Given the description of an element on the screen output the (x, y) to click on. 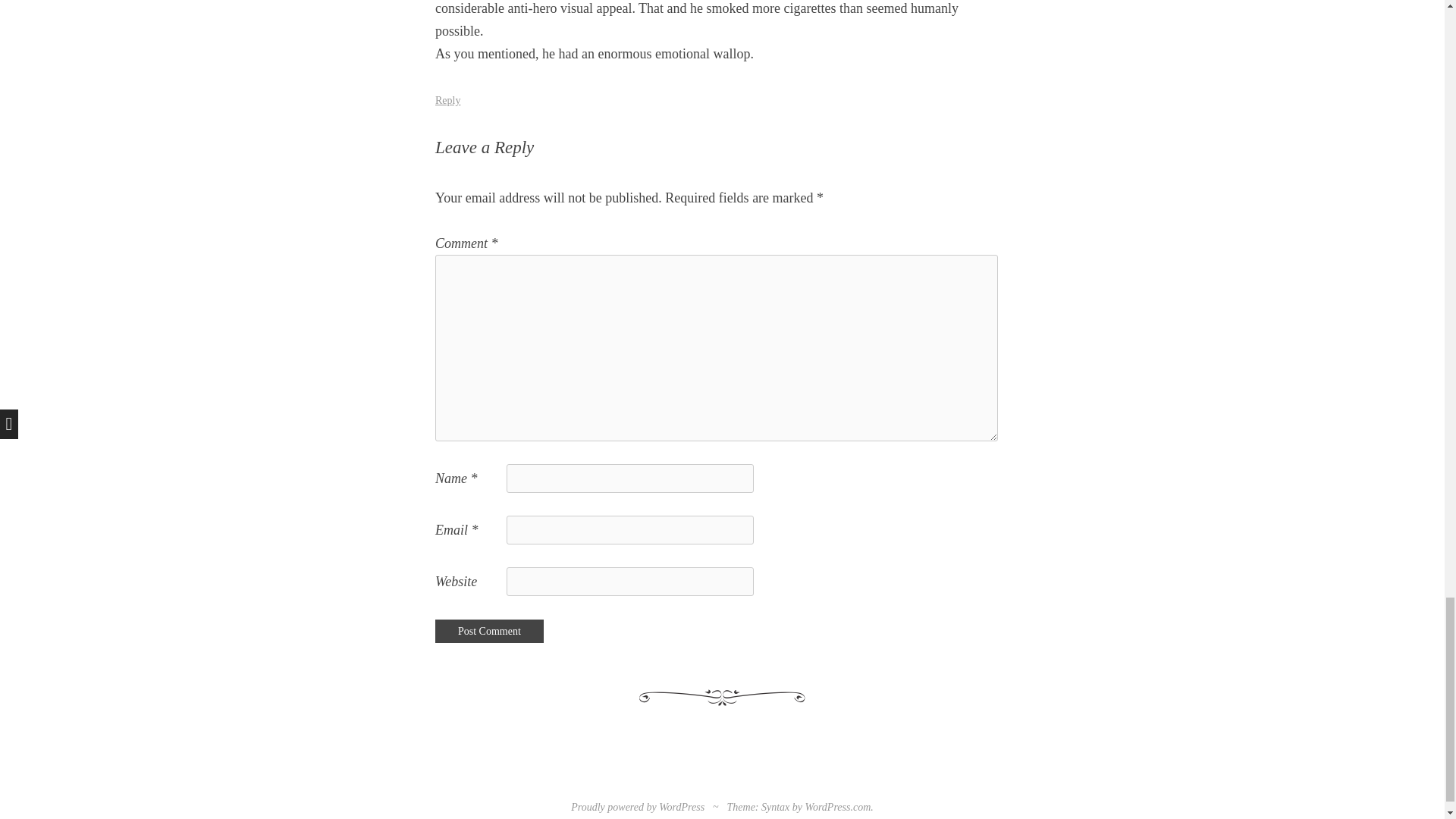
WordPress.com (837, 807)
Proudly powered by WordPress (637, 807)
Post Comment (489, 631)
Reply (447, 100)
Post Comment (489, 631)
A Semantic Personal Publishing Platform (637, 807)
